Given the description of an element on the screen output the (x, y) to click on. 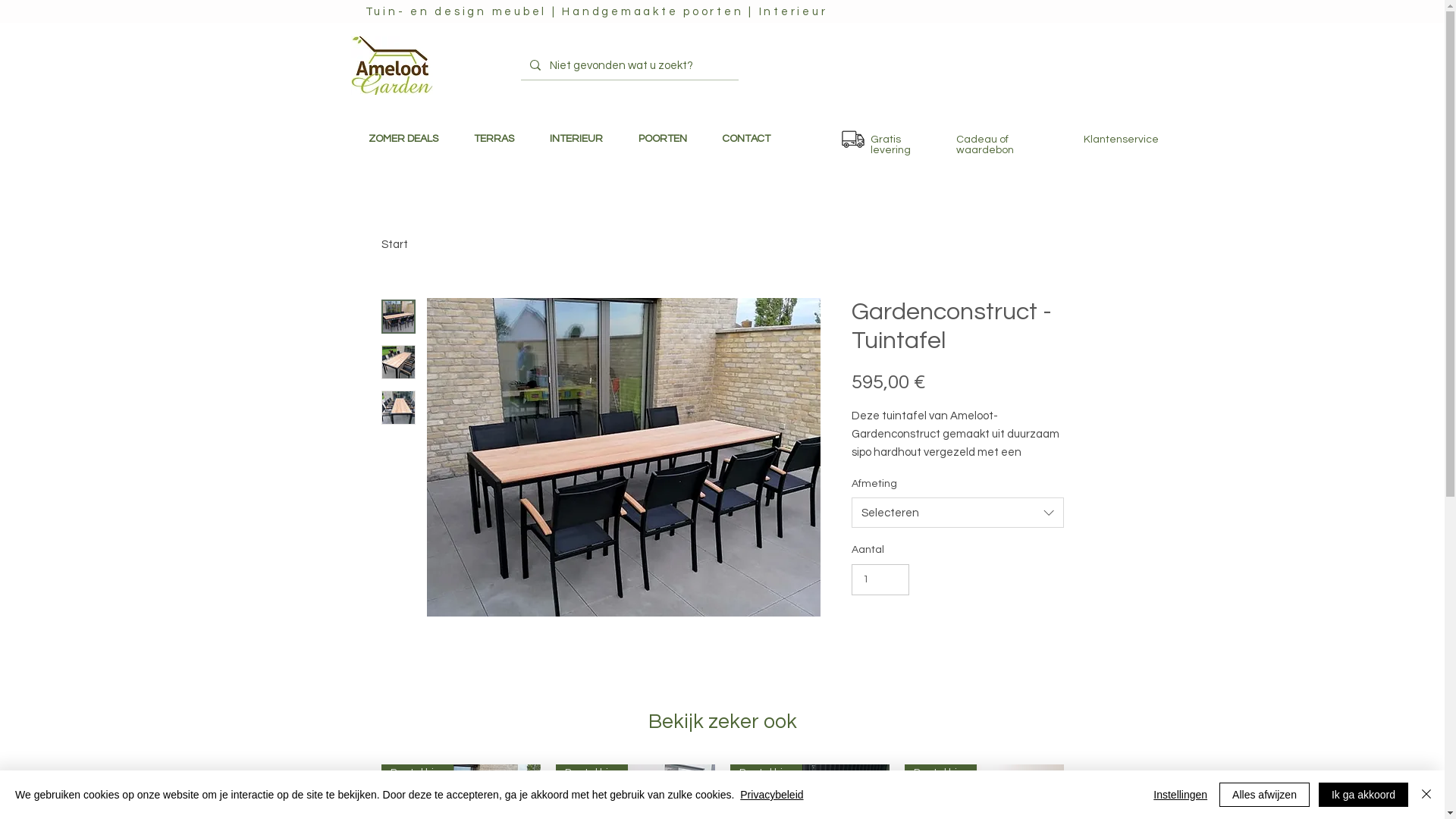
INTERIEUR Element type: text (576, 139)
Ameloot Garden Construct Element type: hover (391, 65)
Start Element type: text (393, 244)
CONTACT Element type: text (745, 139)
Alles afwijzen Element type: text (1264, 794)
POORTEN Element type: text (661, 139)
TERRAS Element type: text (494, 139)
Ik ga akkoord Element type: text (1363, 794)
Klantenservice Element type: text (1119, 139)
Selecteren Element type: text (956, 512)
Cadeau of waardebon Element type: text (984, 144)
Privacybeleid Element type: text (771, 794)
ZOMER DEALS Element type: text (402, 139)
